Given the description of an element on the screen output the (x, y) to click on. 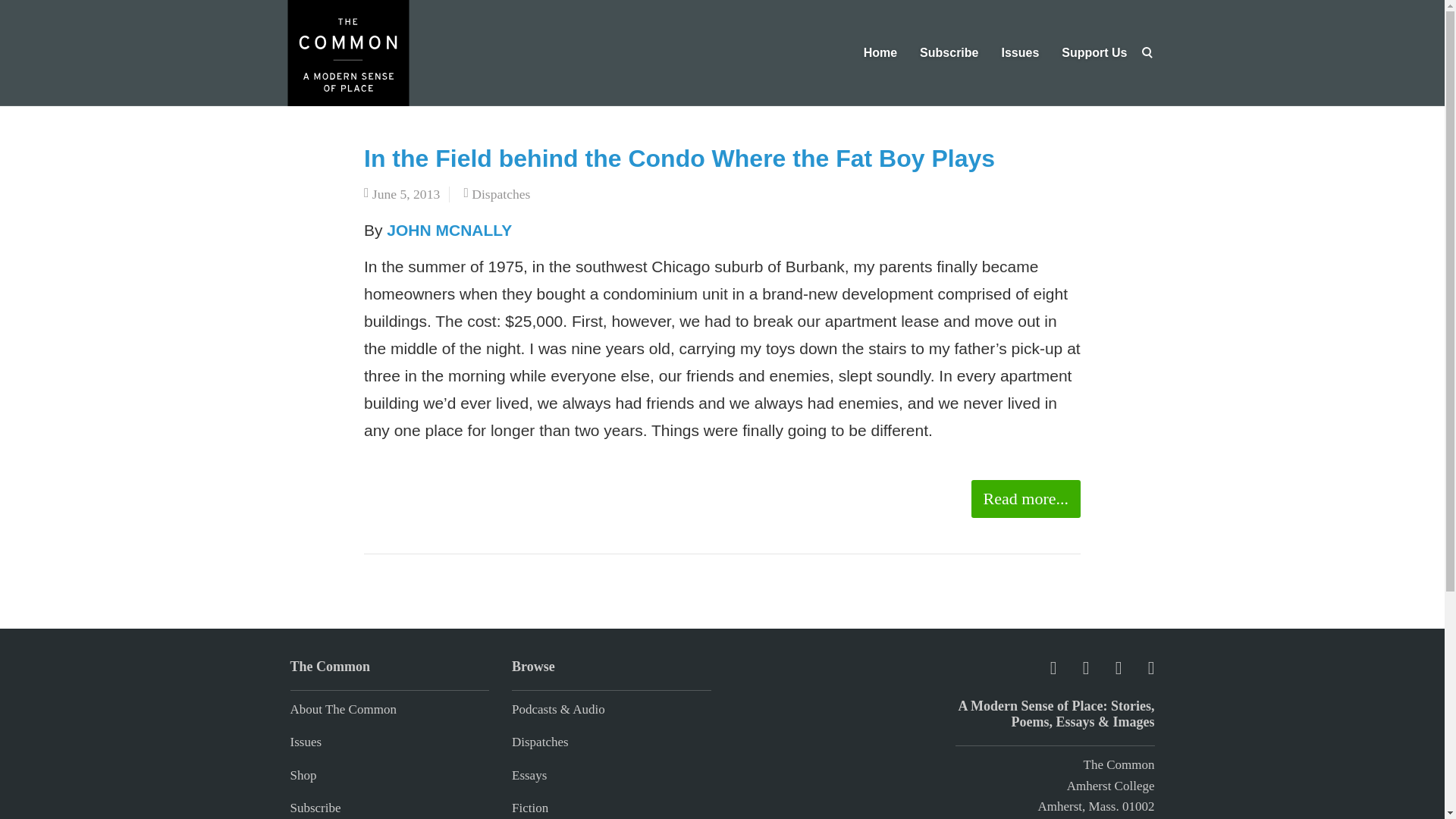
Essays (529, 775)
The Common (1118, 764)
Read more... (1025, 498)
In the Field behind the Condo Where the Fat Boy Plays (679, 157)
JOHN MCNALLY (449, 230)
Dispatches (540, 741)
Shop (302, 775)
Fiction (530, 807)
Issues (305, 741)
